Given the description of an element on the screen output the (x, y) to click on. 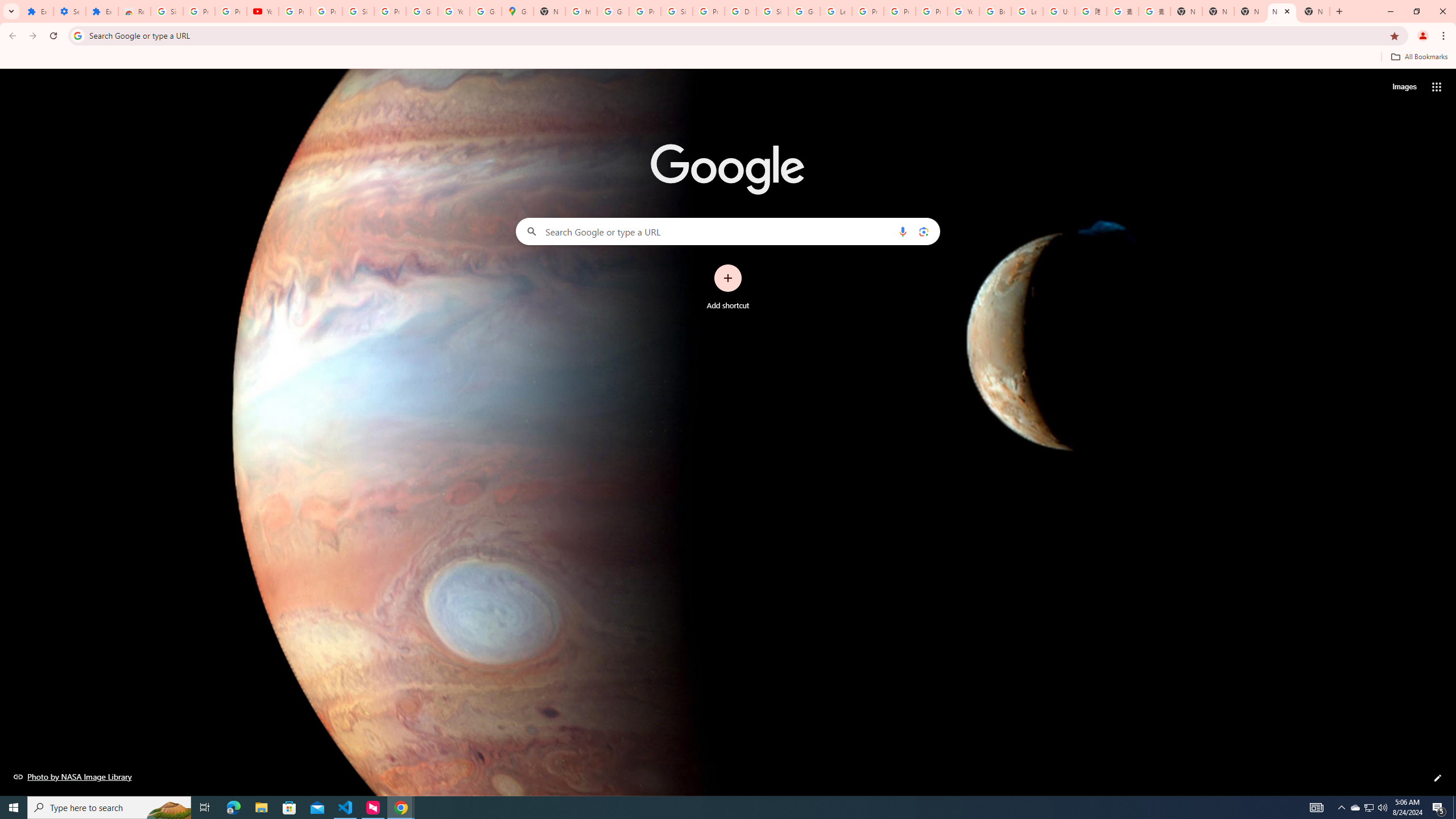
Bookmarks (728, 58)
Extensions (37, 11)
New Tab (1185, 11)
